Given the description of an element on the screen output the (x, y) to click on. 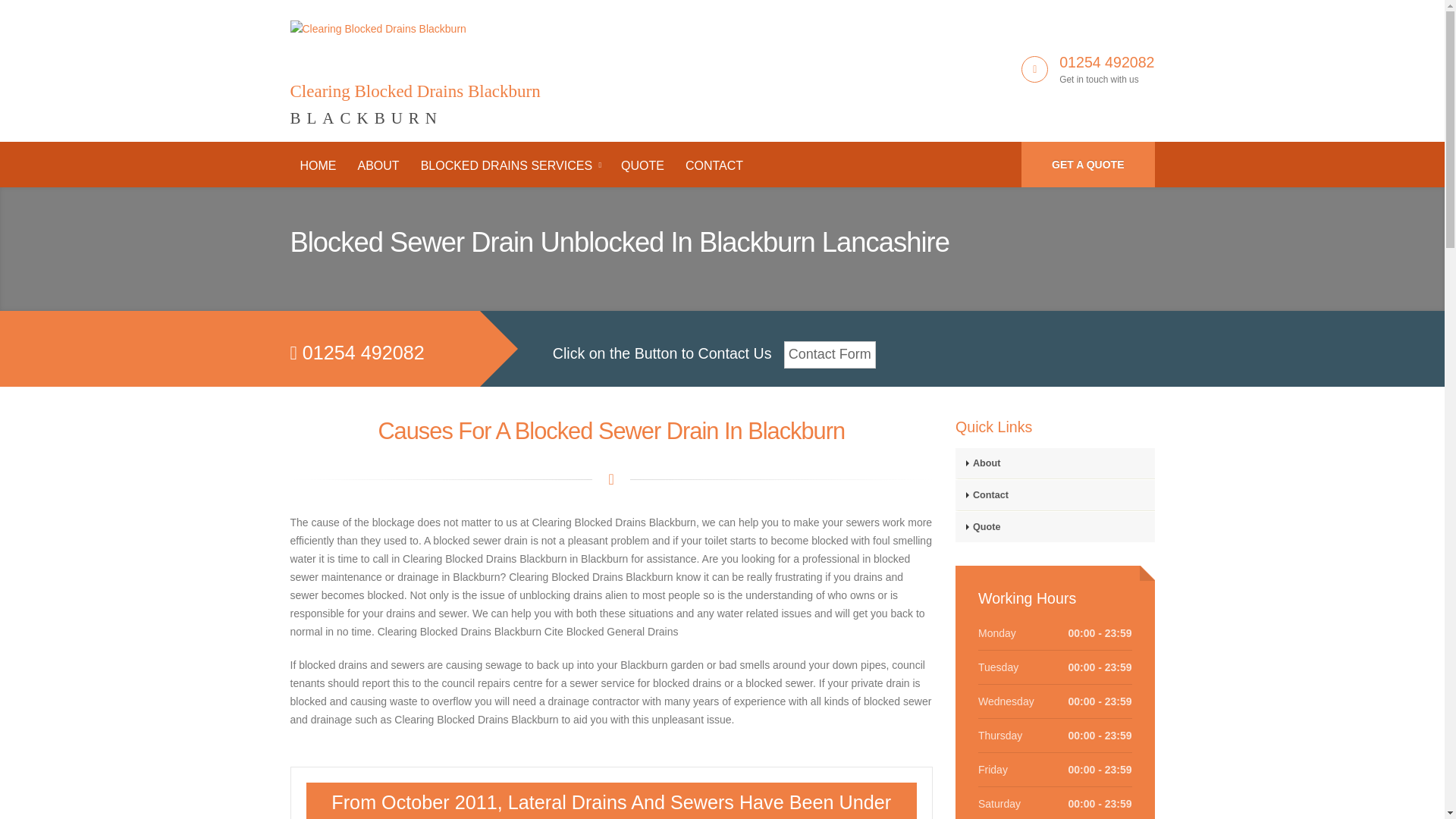
HOME (317, 165)
ABOUT (378, 165)
Contact Form (830, 354)
01254 492082 (1106, 62)
GET A QUOTE (1088, 164)
Quote (1054, 526)
Contact (1054, 495)
QUOTE (642, 165)
About (1054, 463)
CONTACT (713, 165)
